Given the description of an element on the screen output the (x, y) to click on. 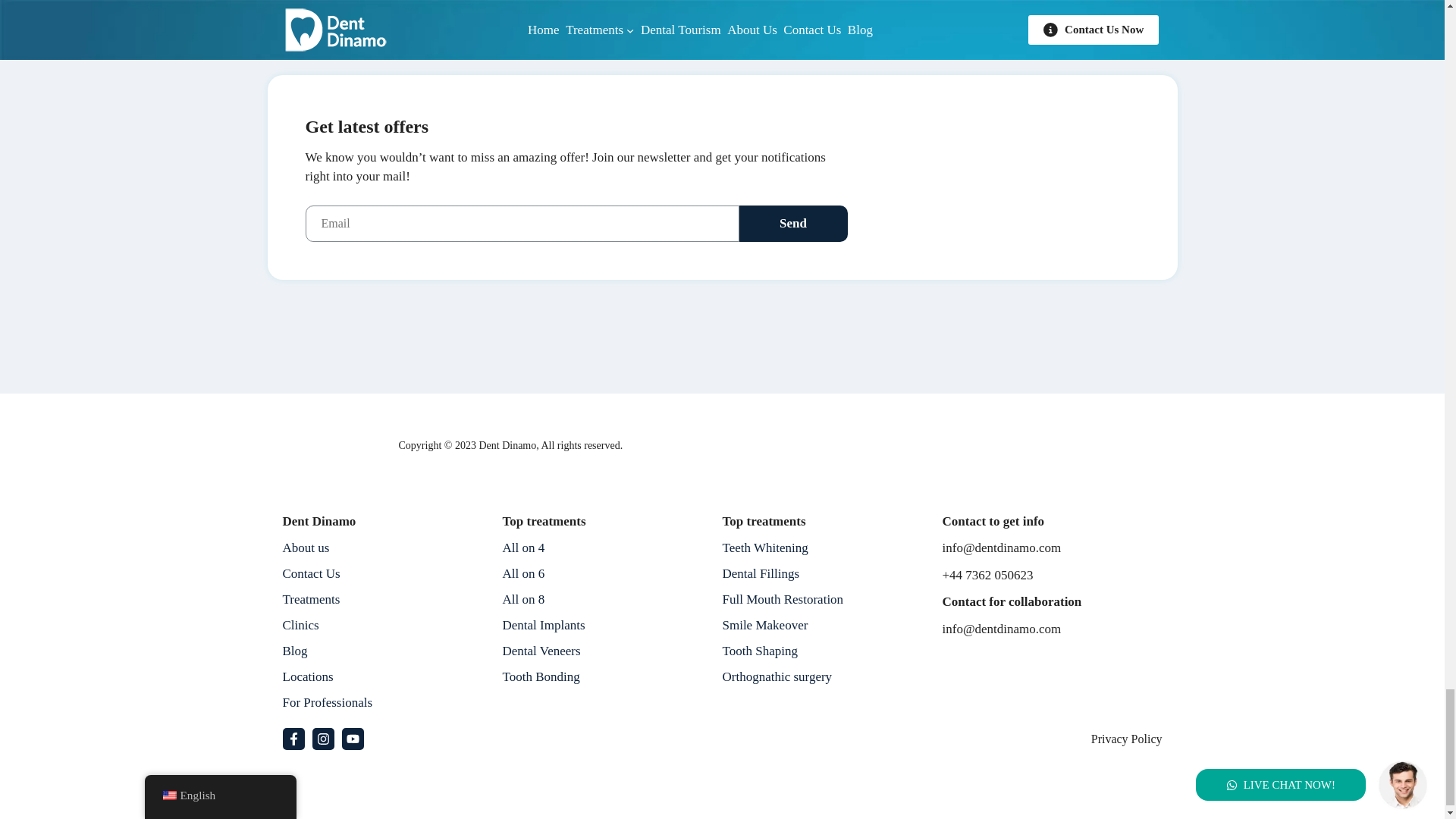
Ratings (941, 444)
Send (792, 223)
2-6-1-300x128 (334, 445)
